Given the description of an element on the screen output the (x, y) to click on. 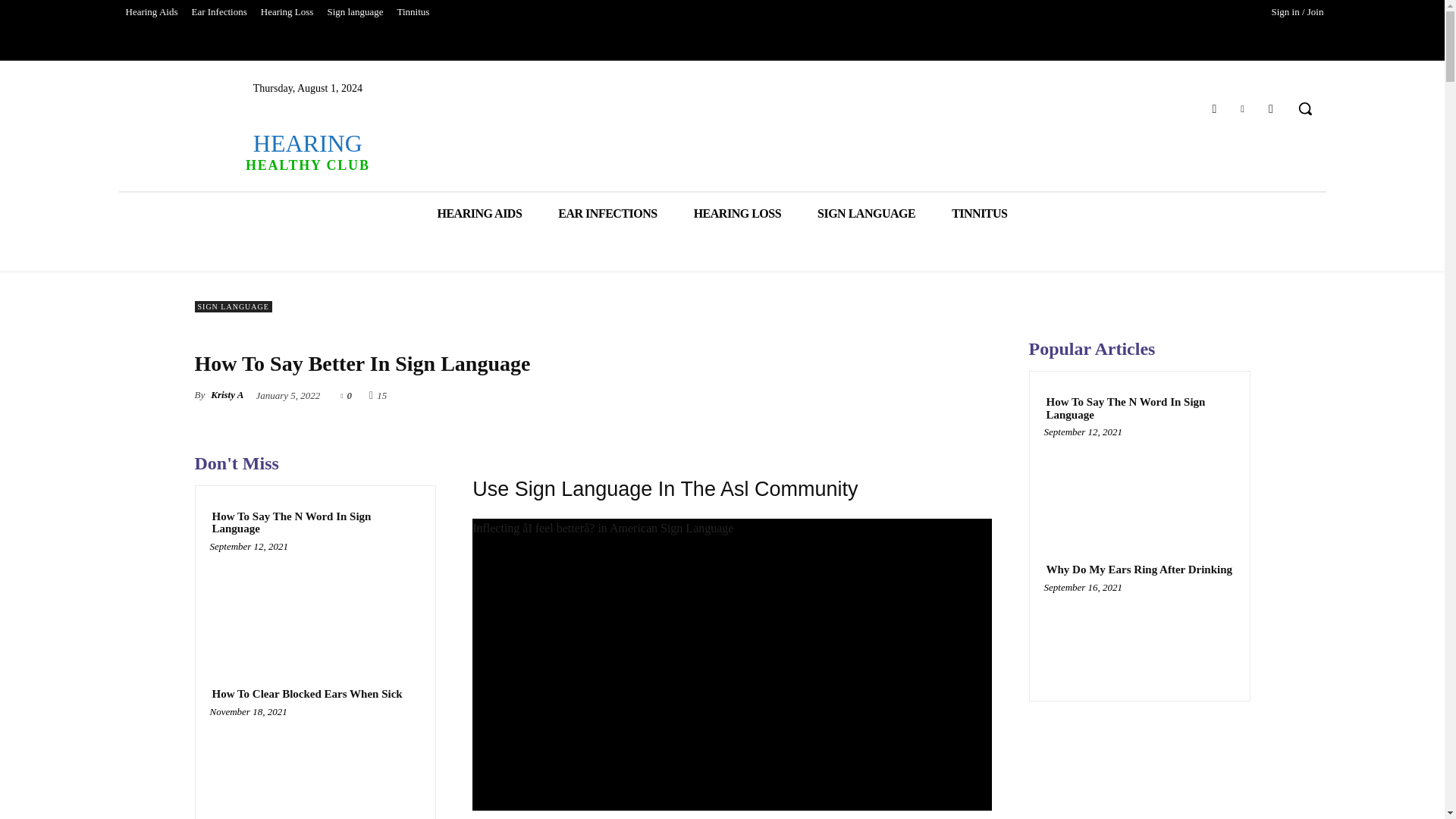
How To Say The N Word In Sign Language (314, 522)
Youtube (1270, 108)
HEARING AIDS (479, 213)
Tinnitus (412, 12)
Facebook (1214, 108)
Hearing Loss (306, 150)
SIGN LANGUAGE (286, 12)
Ear Infections (866, 213)
HEARING LOSS (218, 12)
EAR INFECTIONS (737, 213)
How To Clear Blocked Ears When Sick (607, 213)
TINNITUS (314, 766)
How To Clear Blocked Ears When Sick (979, 213)
Sign language (306, 694)
